Given the description of an element on the screen output the (x, y) to click on. 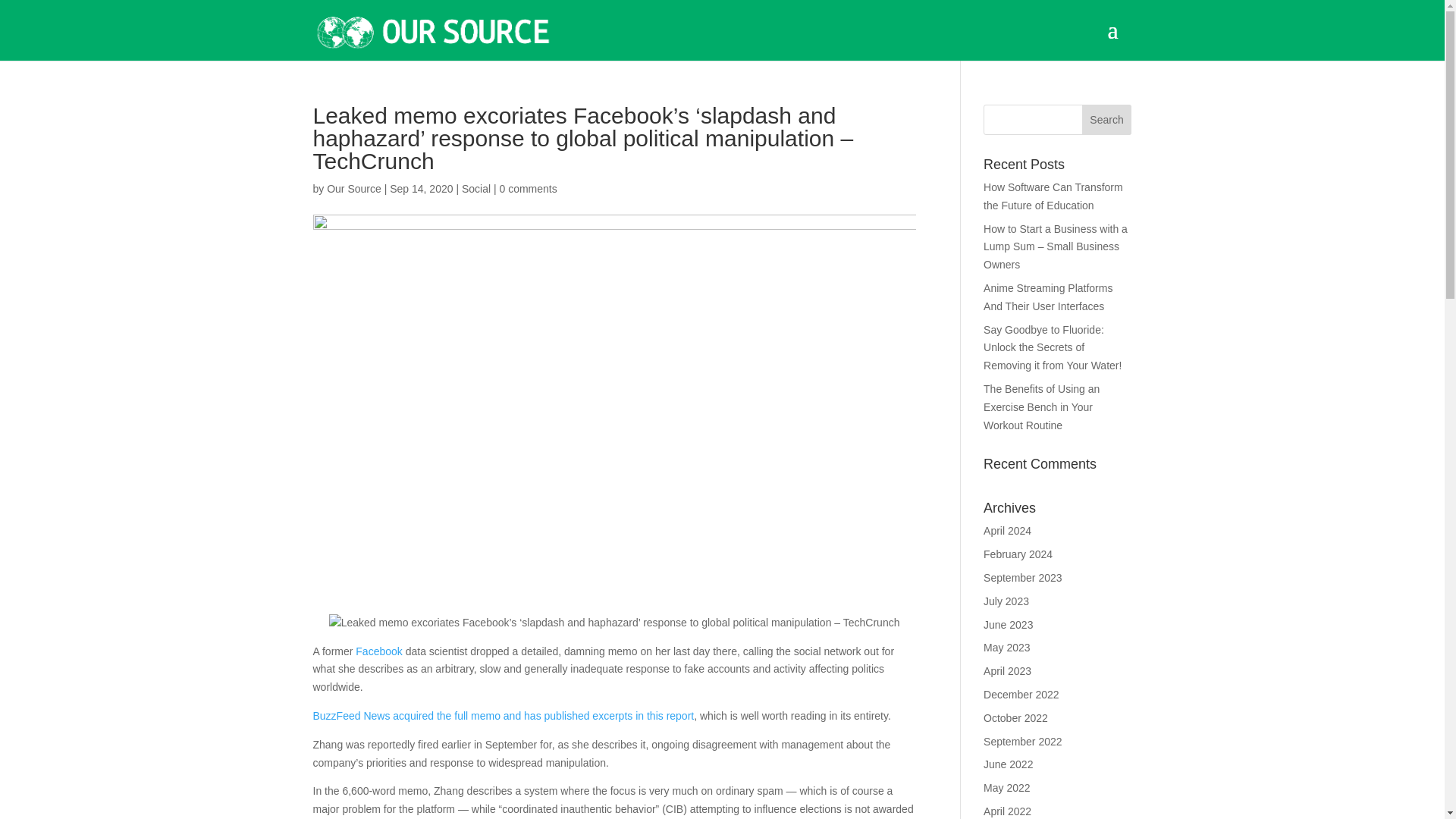
Anime Streaming Platforms And Their User Interfaces (1048, 296)
Posts by Our Source (353, 188)
Social (475, 188)
December 2022 (1021, 694)
May 2023 (1006, 647)
Facebook (379, 651)
April 2023 (1007, 671)
April 2024 (1007, 530)
Our Source (353, 188)
Search (1106, 119)
June 2023 (1008, 624)
September 2023 (1023, 577)
